Given the description of an element on the screen output the (x, y) to click on. 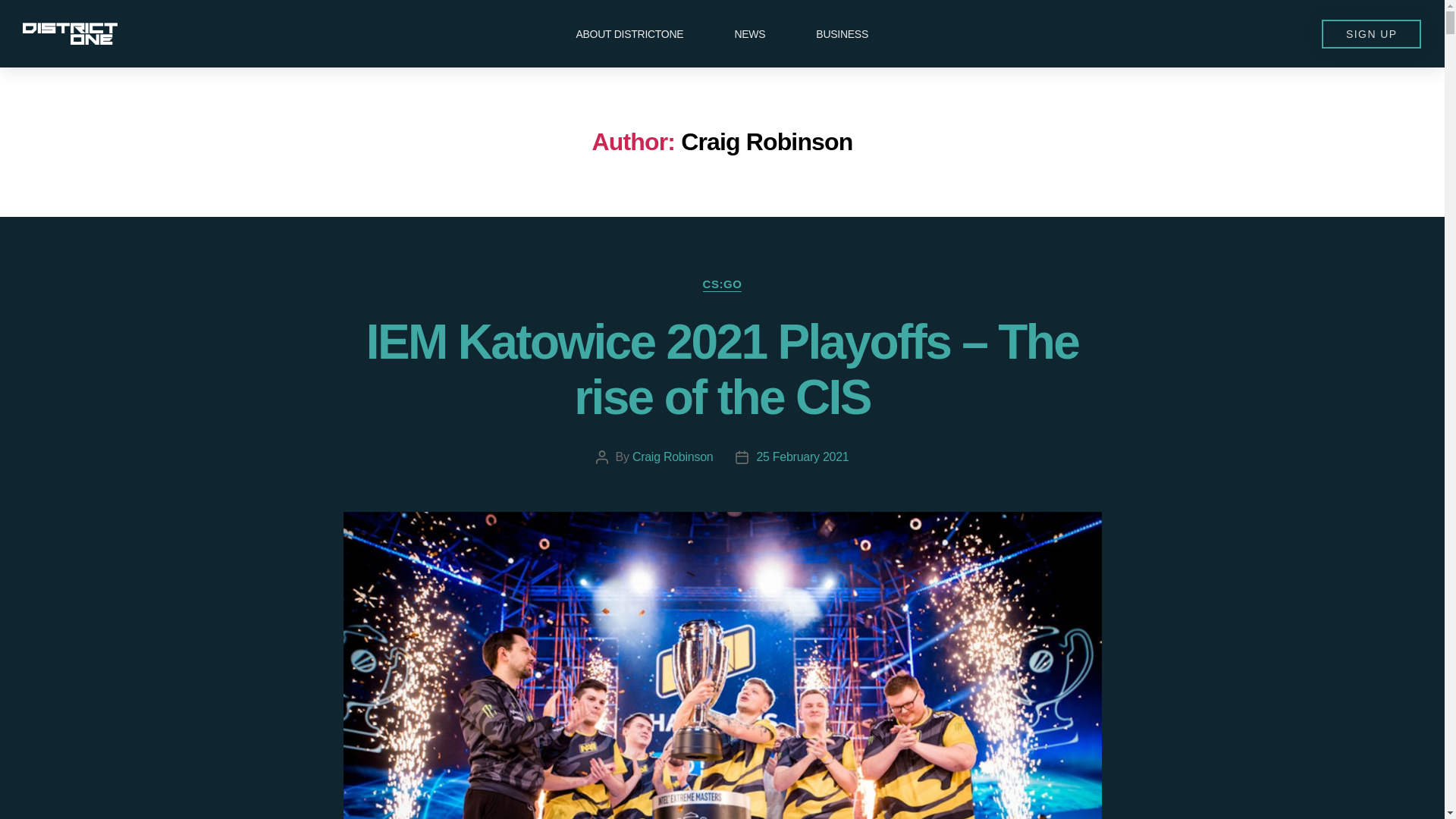
ABOUT DISTRICTONE (629, 33)
CS:GO (722, 284)
Craig Robinson (672, 456)
BUSINESS (841, 33)
NEWS (749, 33)
25 February 2021 (801, 456)
SIGN UP (1371, 33)
